Given the description of an element on the screen output the (x, y) to click on. 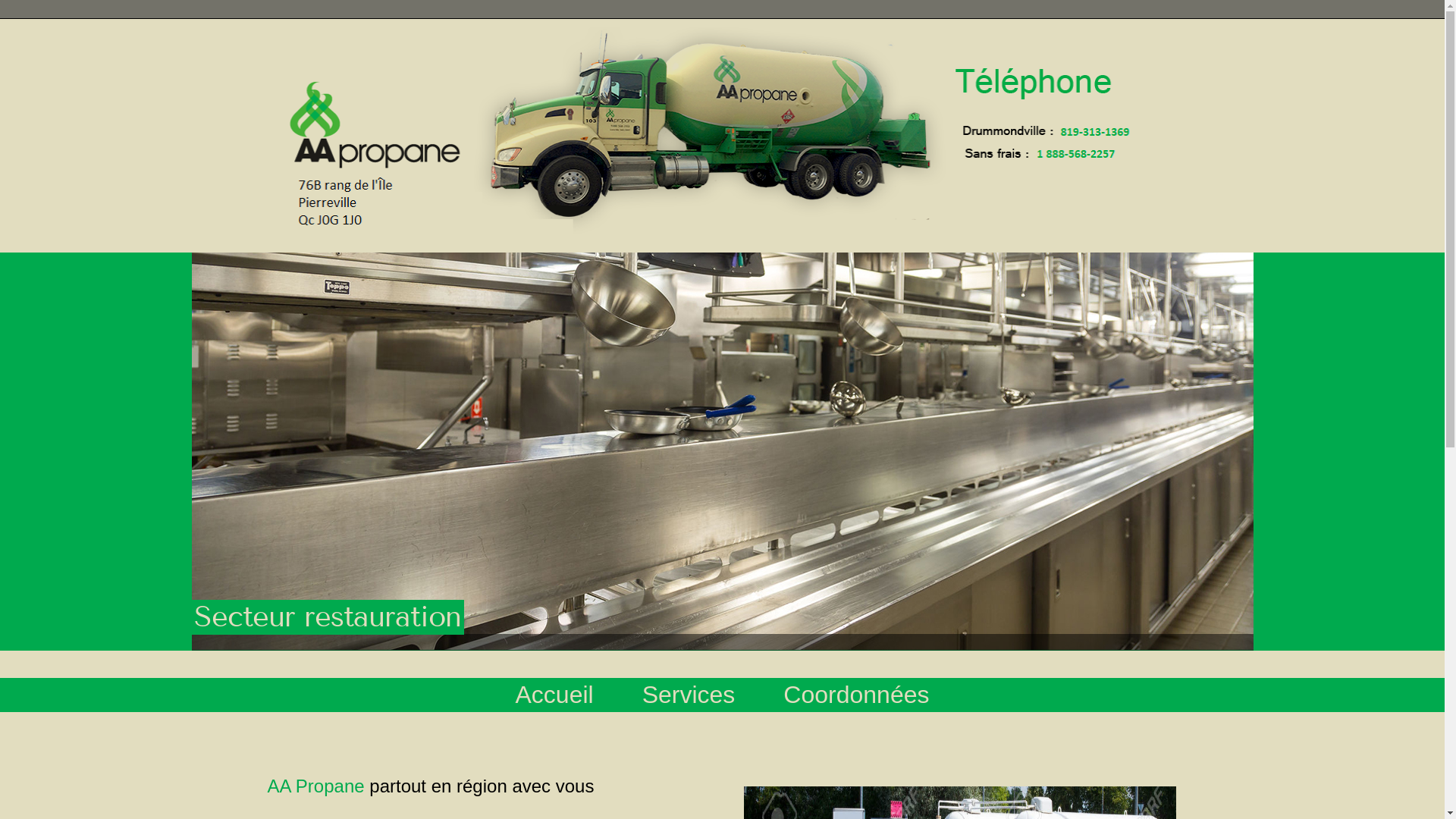
Services Element type: text (688, 694)
Secteur restauration Element type: hover (721, 450)
Services Element type: text (688, 698)
Accueil Element type: text (554, 694)
